Given the description of an element on the screen output the (x, y) to click on. 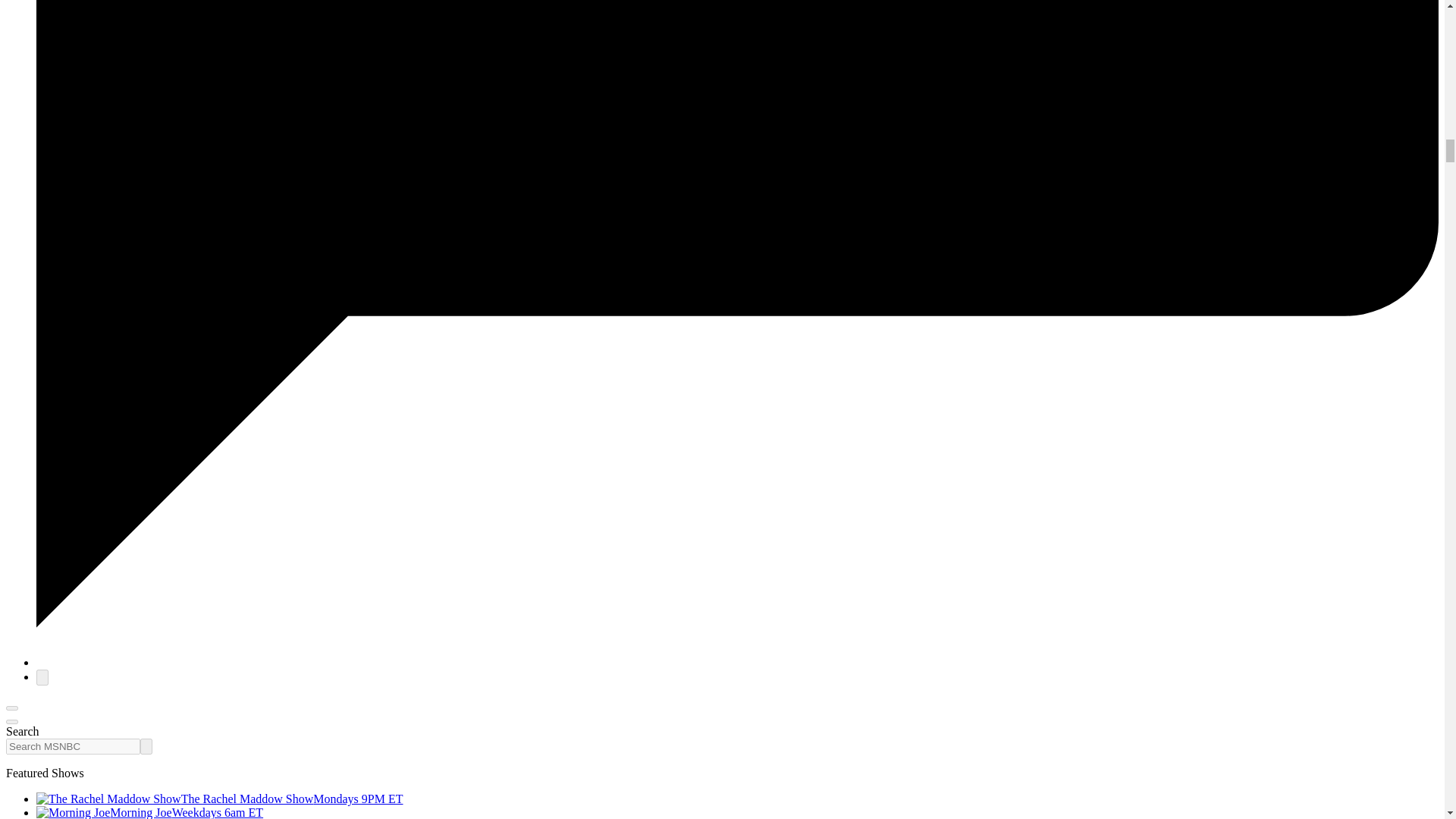
The Rachel Maddow ShowMondays 9PM ET (219, 798)
Search (145, 746)
Morning JoeWeekdays 6am ET (149, 812)
